Given the description of an element on the screen output the (x, y) to click on. 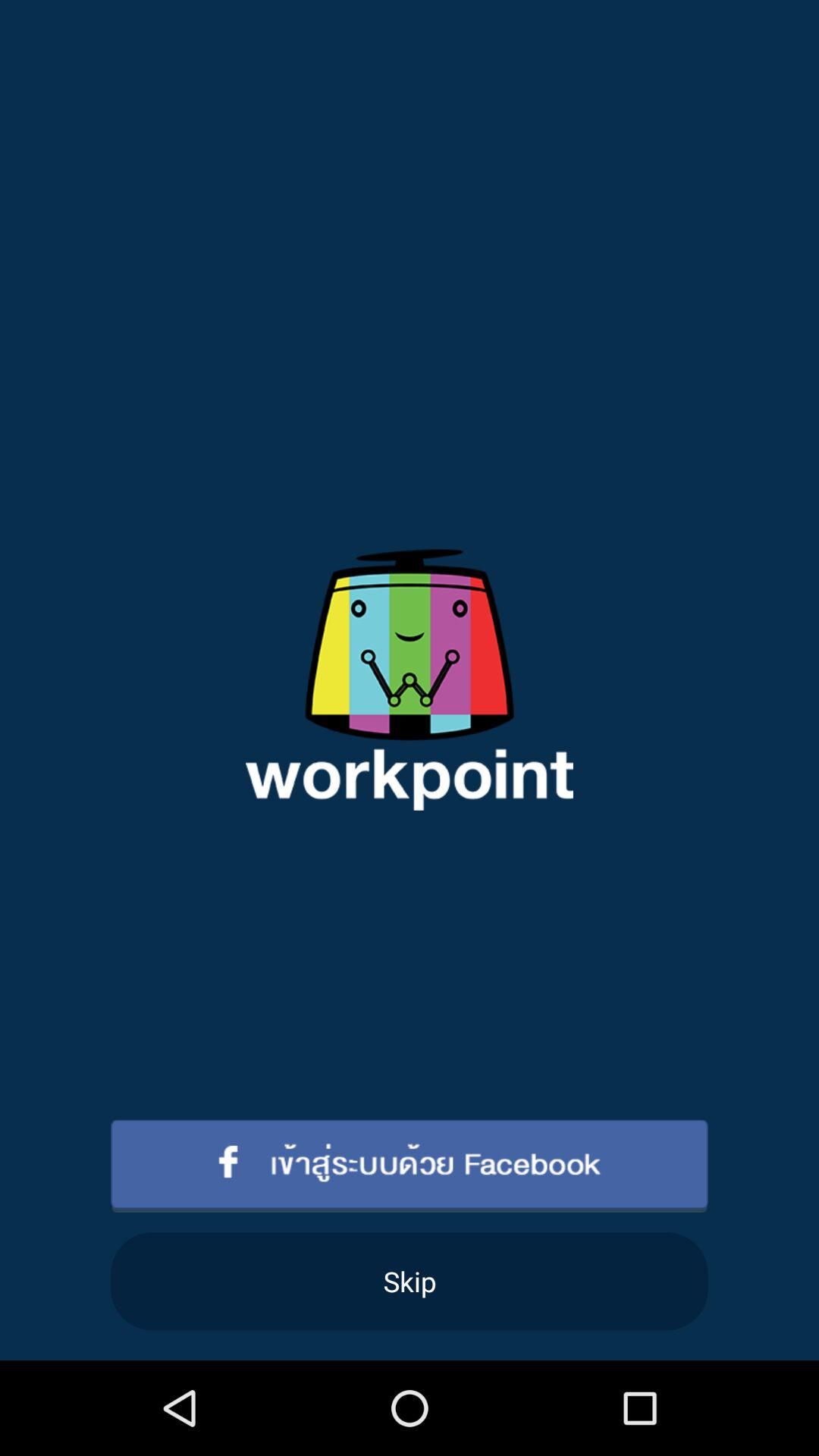
log in with facebook (409, 1165)
